Given the description of an element on the screen output the (x, y) to click on. 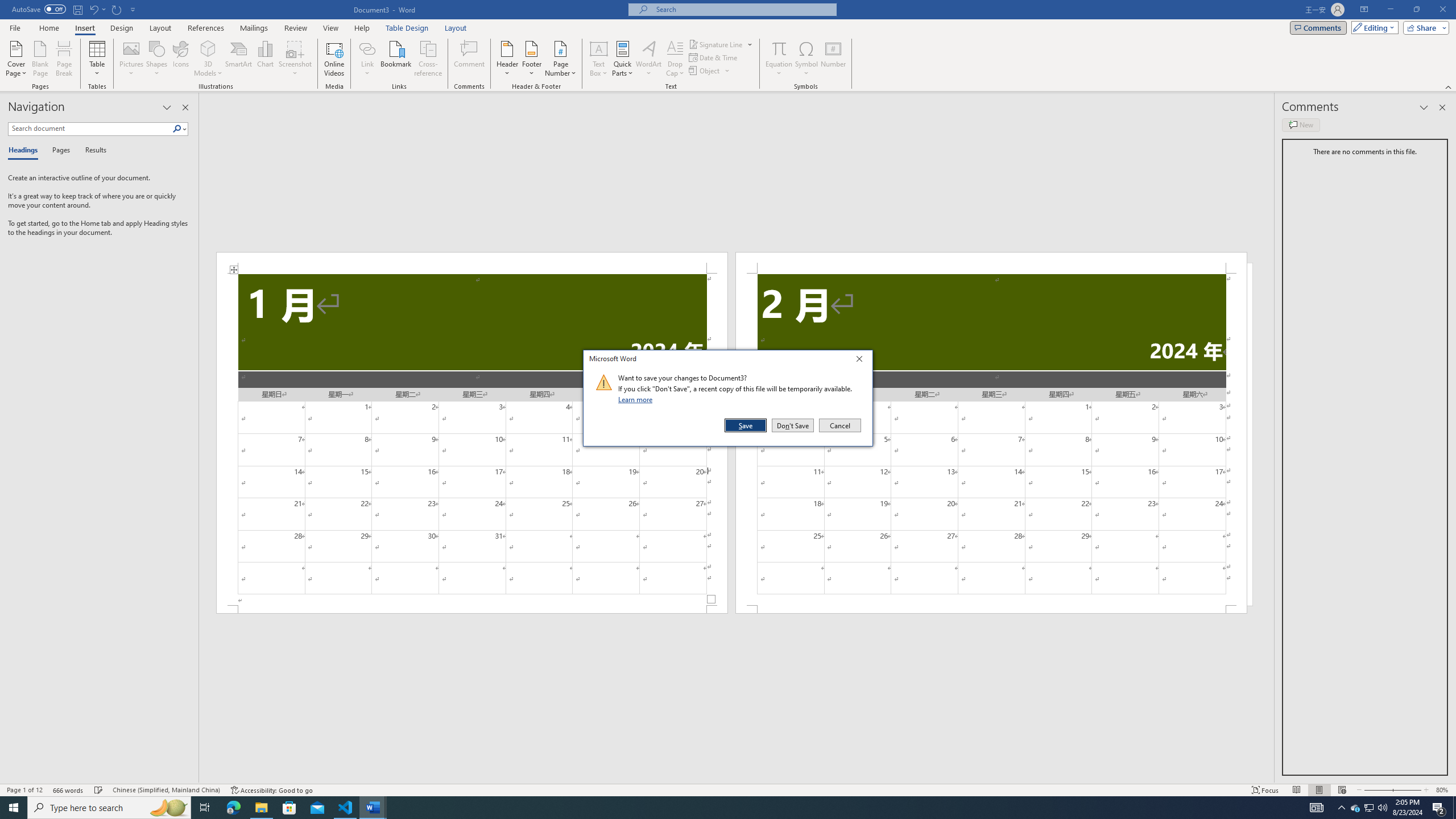
Undo Increase Indent (96, 9)
Table (97, 58)
Word Count 666 words (68, 790)
Date & Time... (714, 56)
Q2790: 100% (1382, 807)
AutomationID: 4105 (1316, 807)
Page Break (63, 58)
Online Videos... (333, 58)
